Given the description of an element on the screen output the (x, y) to click on. 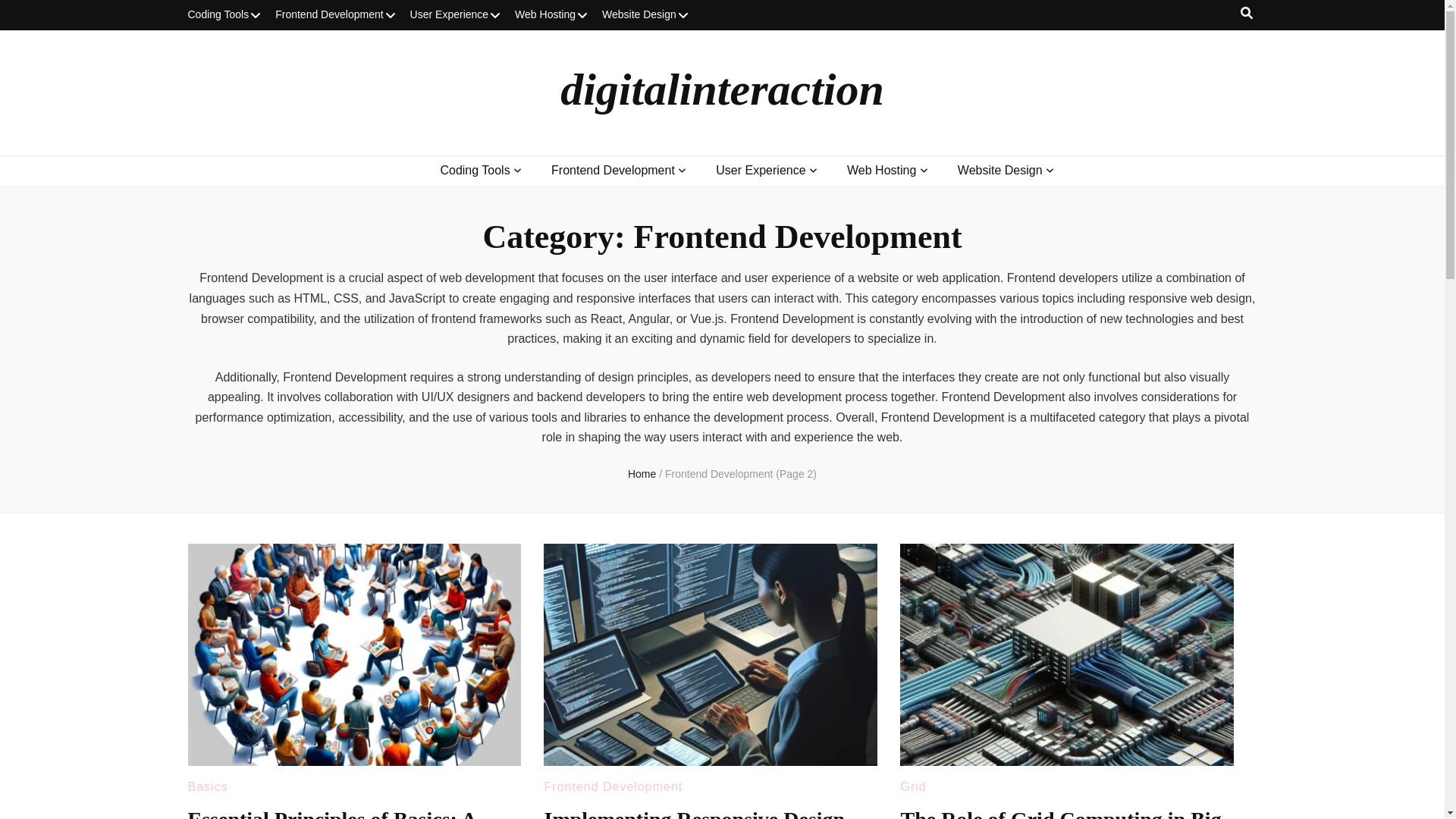
User Experience (455, 15)
Frontend Development (334, 15)
Website Design (644, 15)
Web Hosting (550, 15)
digitalinteraction (721, 89)
Coding Tools (474, 170)
Coding Tools (223, 15)
User Experience (760, 170)
Frontend Development (613, 170)
